Given the description of an element on the screen output the (x, y) to click on. 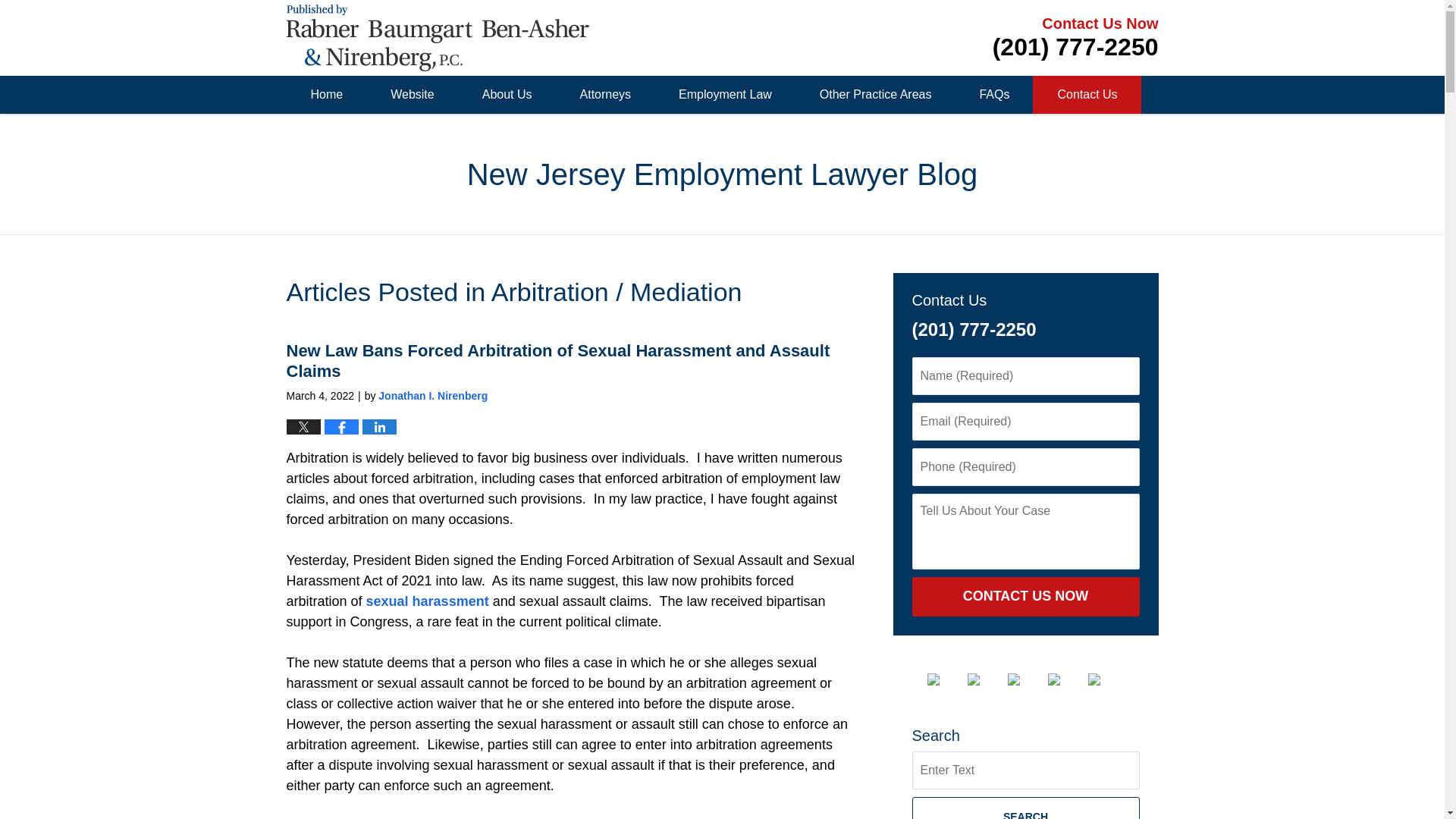
FAQs (993, 94)
Jonathan I. Nirenberg (432, 395)
About Us (507, 94)
Other Practice Areas (874, 94)
Home (326, 94)
Employment Law (723, 94)
New Jersey Employment Lawyer Blog (437, 37)
Contact Us (1086, 94)
Attorneys (605, 94)
sexual harassment (427, 601)
Website (412, 94)
